Given the description of an element on the screen output the (x, y) to click on. 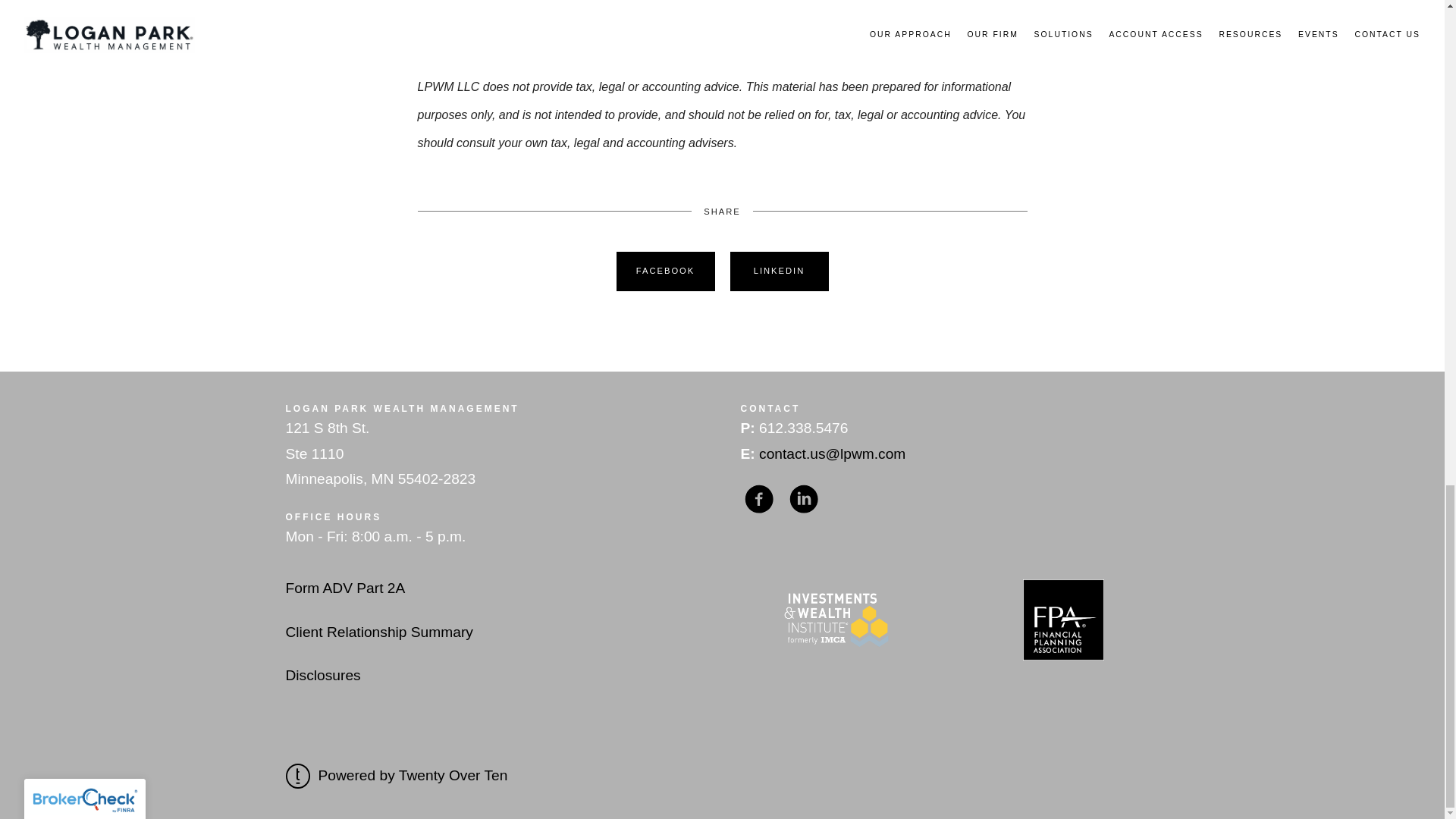
LINKEDIN (778, 271)
Form ADV Part 2A (344, 587)
Disclosures (322, 675)
Client Relationship Summary (378, 631)
FACEBOOK (665, 271)
